Given the description of an element on the screen output the (x, y) to click on. 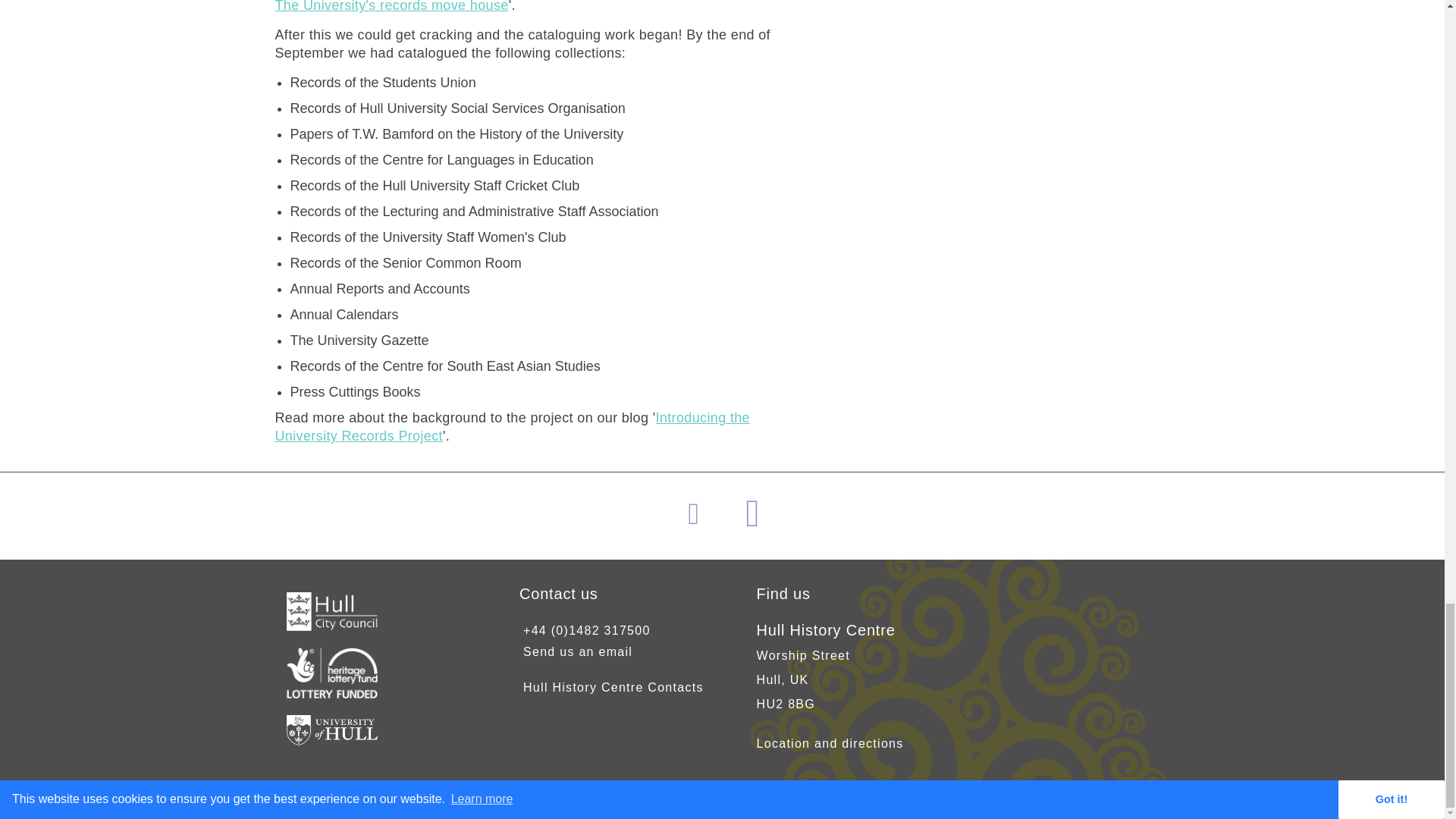
University of Hull (331, 740)
Heritage Lottery Fund (331, 694)
All Change: The University's records move house (532, 6)
Find our location (830, 743)
Contact one of our staff members (612, 686)
Introducing the University Records Project (512, 426)
Visit us on Twitter (758, 521)
Privacy (857, 800)
Hull City Council (331, 626)
Accessibility (748, 800)
Let us know how we are doing (576, 651)
Visit us on Facebook (698, 519)
